Given the description of an element on the screen output the (x, y) to click on. 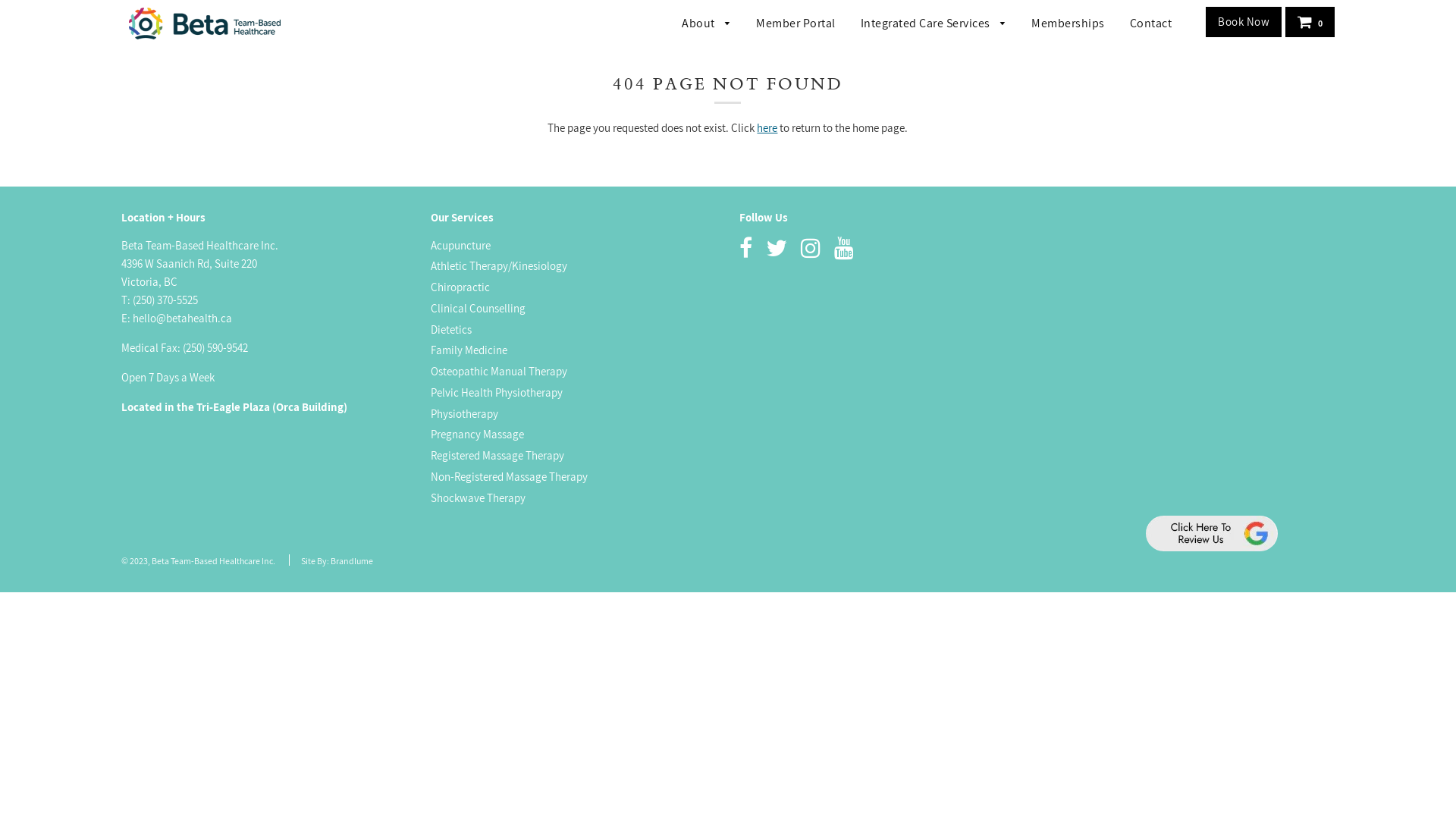
(250) 370-5525 Element type: text (164, 299)
Shockwave Therapy Element type: text (477, 497)
0 Element type: text (1309, 21)
Physiotherapy Element type: text (464, 413)
Chiropractic Element type: text (459, 286)
Registered Massage Therapy Element type: text (497, 455)
About Element type: text (706, 23)
Contact Element type: text (1144, 23)
Memberships Element type: text (1067, 23)
Athletic Therapy/Kinesiology Element type: text (498, 265)
Non-Registered Massage Therapy Element type: text (508, 476)
Acupuncture Element type: text (460, 245)
Pregnancy Massage Element type: text (477, 433)
Family Medicine Element type: text (468, 349)
here Element type: text (766, 127)
hello@betahealth.ca Element type: text (182, 317)
Clinical Counselling Element type: text (477, 308)
Pelvic Health Physiotherapy Element type: text (496, 392)
Dietetics Element type: text (450, 329)
Osteopathic Manual Therapy Element type: text (498, 371)
Member Portal Element type: text (795, 23)
Integrated Care Services Element type: text (933, 23)
Book Now Element type: text (1243, 21)
Site By: Brandlume Element type: text (337, 560)
